Given the description of an element on the screen output the (x, y) to click on. 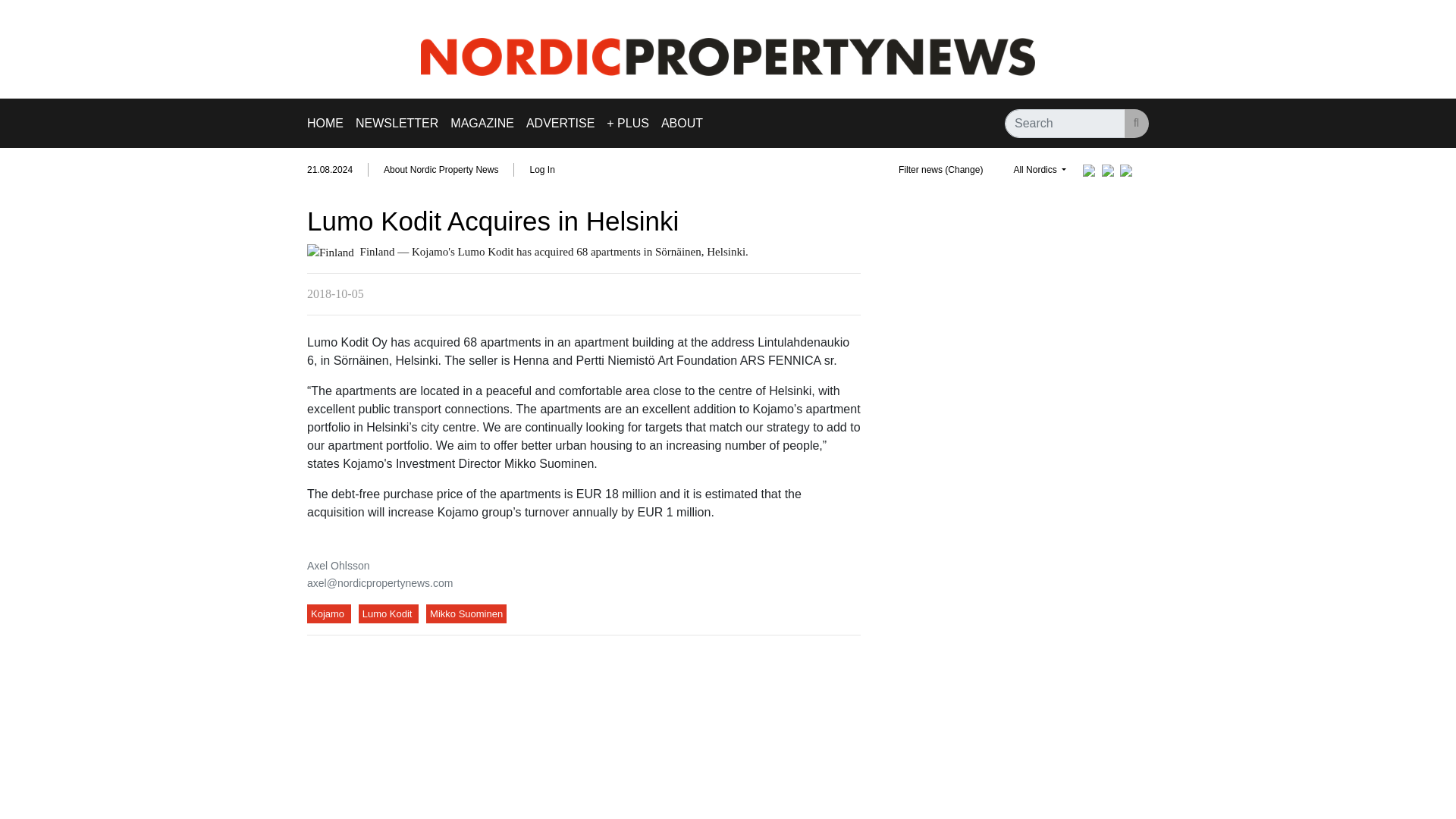
21.08.2024 (337, 169)
ADVERTISE (559, 123)
All Nordics (1039, 169)
HOME (328, 123)
MAGAZINE (481, 123)
About Nordic Property News (440, 169)
Log In (541, 169)
Mikko Suominen (466, 613)
NEWSLETTER (396, 123)
ABOUT (682, 123)
